Given the description of an element on the screen output the (x, y) to click on. 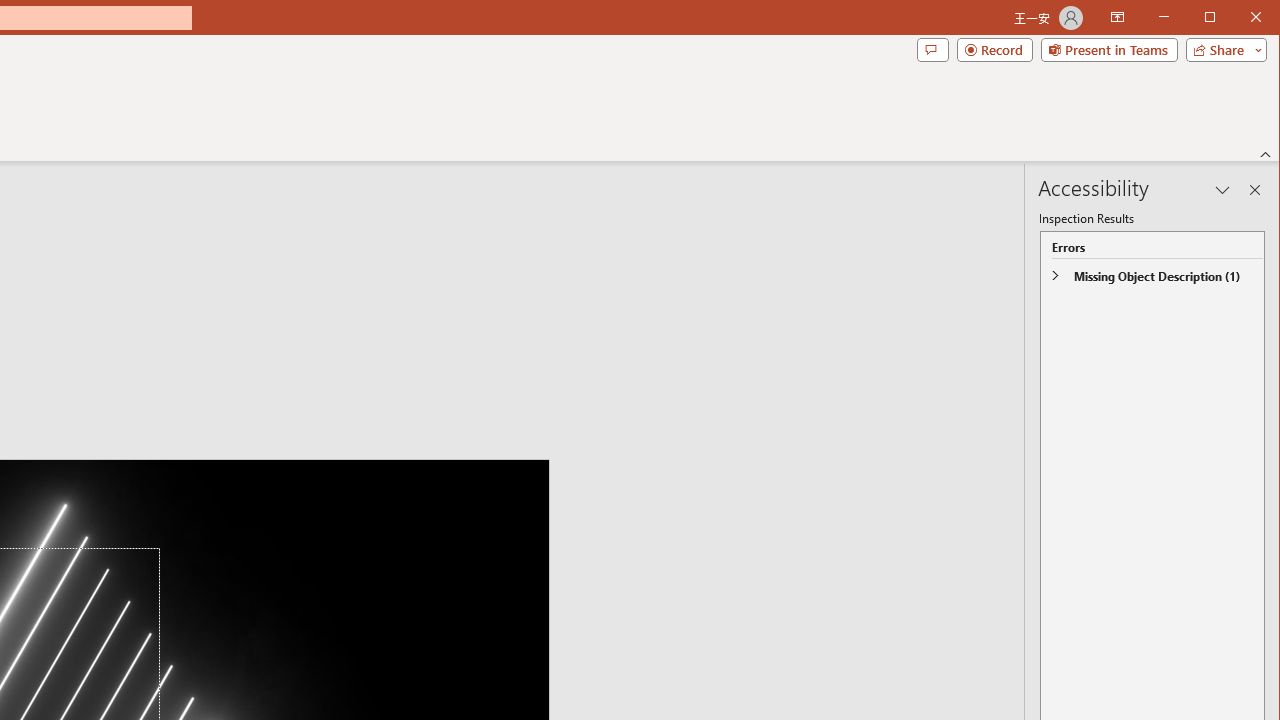
Maximize (1238, 18)
